Given the description of an element on the screen output the (x, y) to click on. 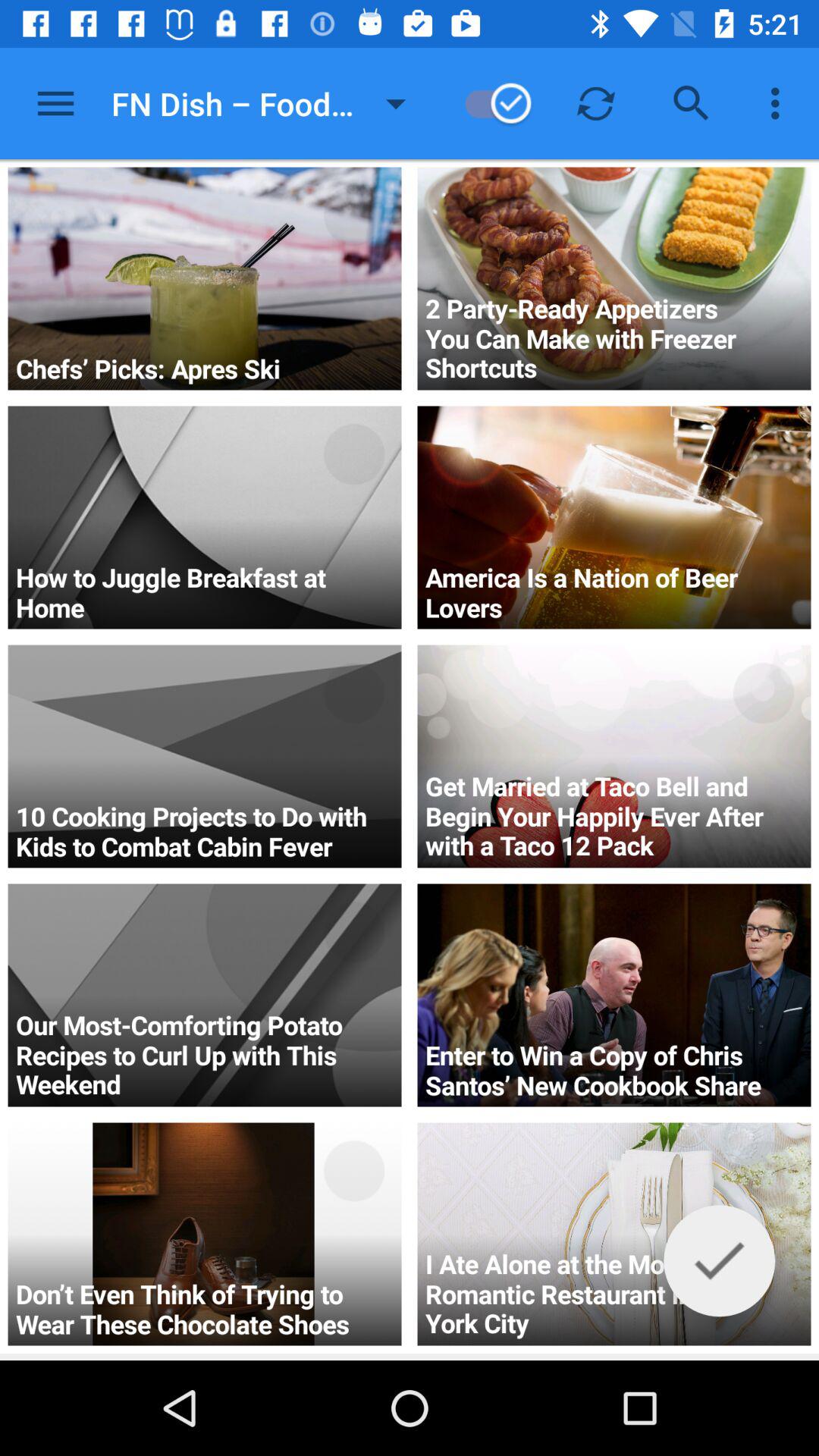
click on the circle sign which is in 3rd image from top at right side (763, 692)
select the circular shaped icon below the first image on the web page (353, 453)
select the circular shaped icon below the first image on the web page (353, 453)
click on the second image in the second row (614, 517)
select the circular shaped icon from the bottom 2nd image from left side of the web page (353, 931)
select the circular shaped icon from the bottom 2nd image from left side of the web page (353, 931)
click on first image in the third row (205, 756)
